Given the description of an element on the screen output the (x, y) to click on. 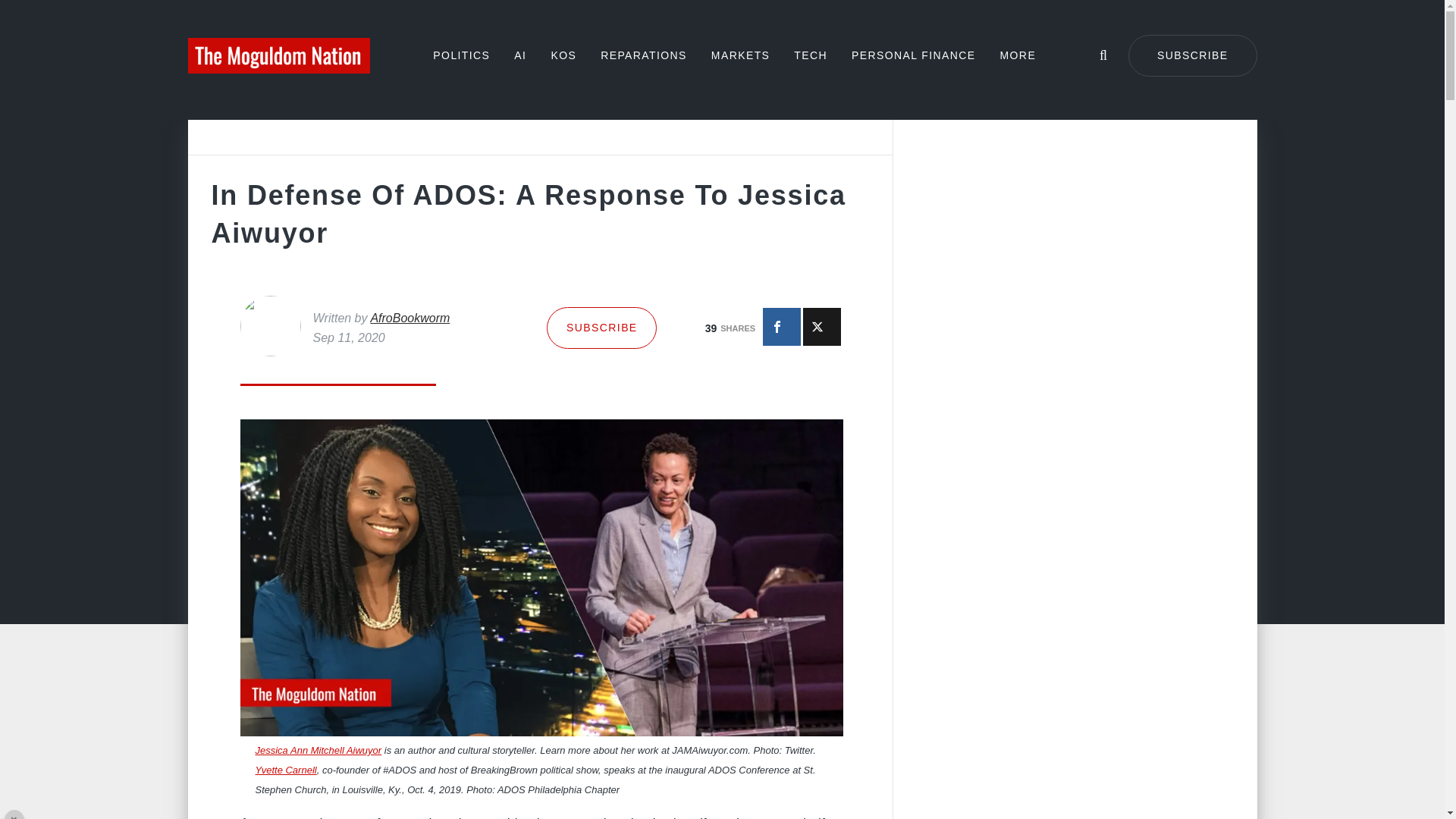
POLITICS (460, 55)
TECH (810, 55)
SUBSCRIBE (601, 327)
Yvette Carnell (284, 769)
MORE (1018, 55)
TWEET (822, 326)
AI (519, 55)
Jessica Ann Mitchell Aiwuyor (317, 749)
SHARE (781, 326)
REPARATIONS (643, 55)
